Given the description of an element on the screen output the (x, y) to click on. 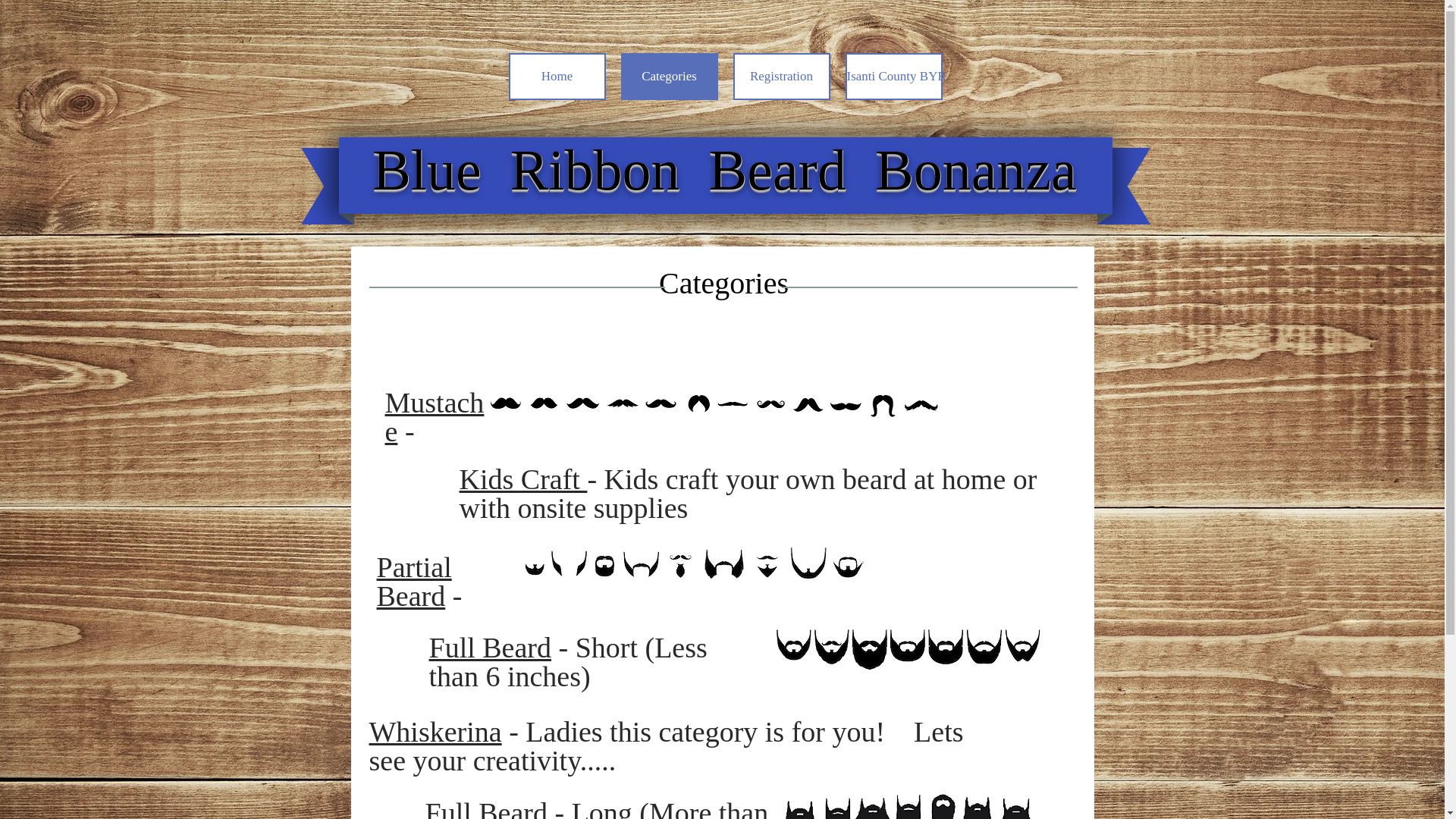
Blue  Ribbon  Beard  Bonanza (724, 169)
Categories (668, 76)
Home (556, 76)
Registration (780, 76)
Isanti County BYR (893, 76)
